Given the description of an element on the screen output the (x, y) to click on. 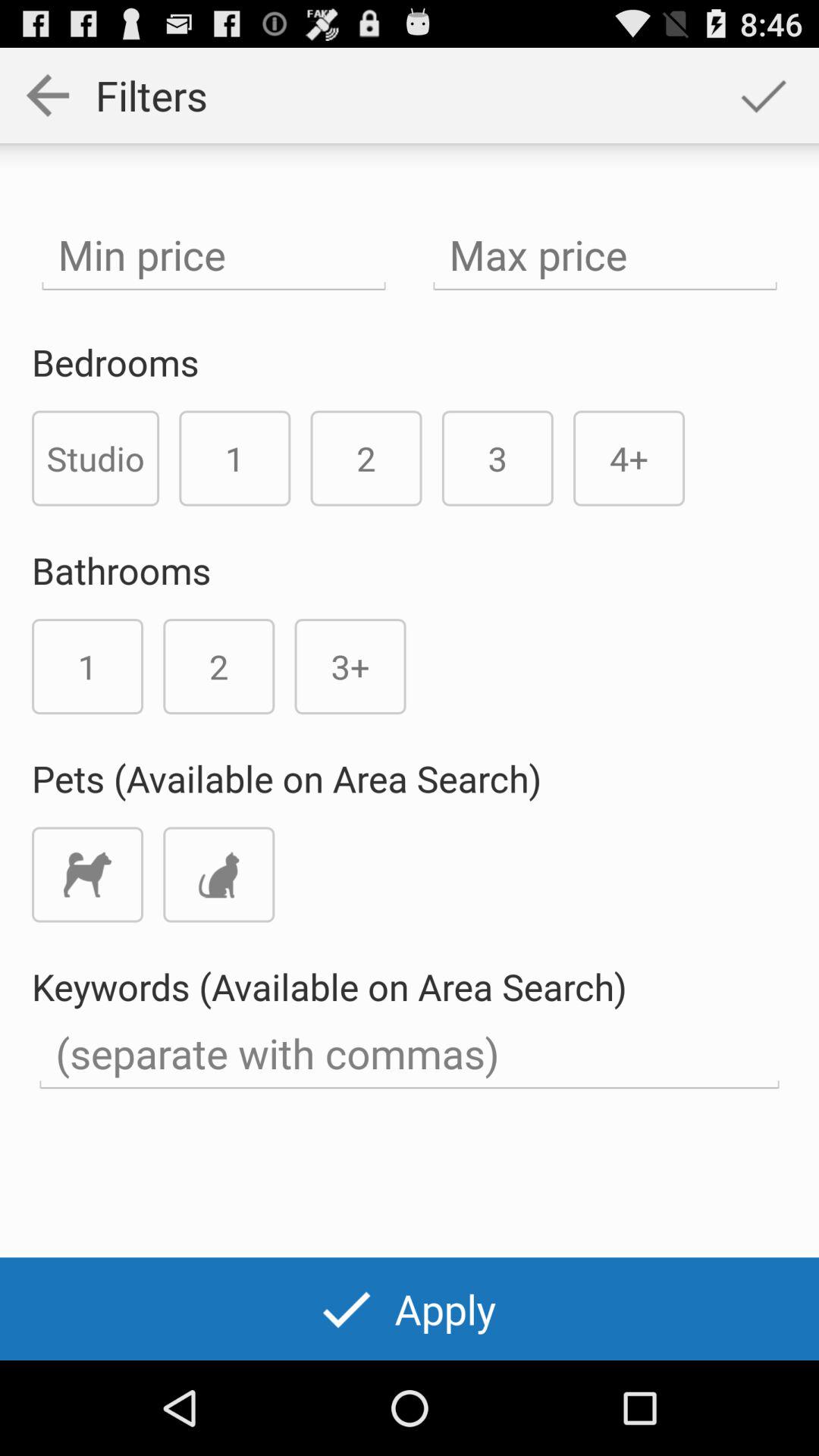
swipe until the 4+ icon (628, 458)
